Given the description of an element on the screen output the (x, y) to click on. 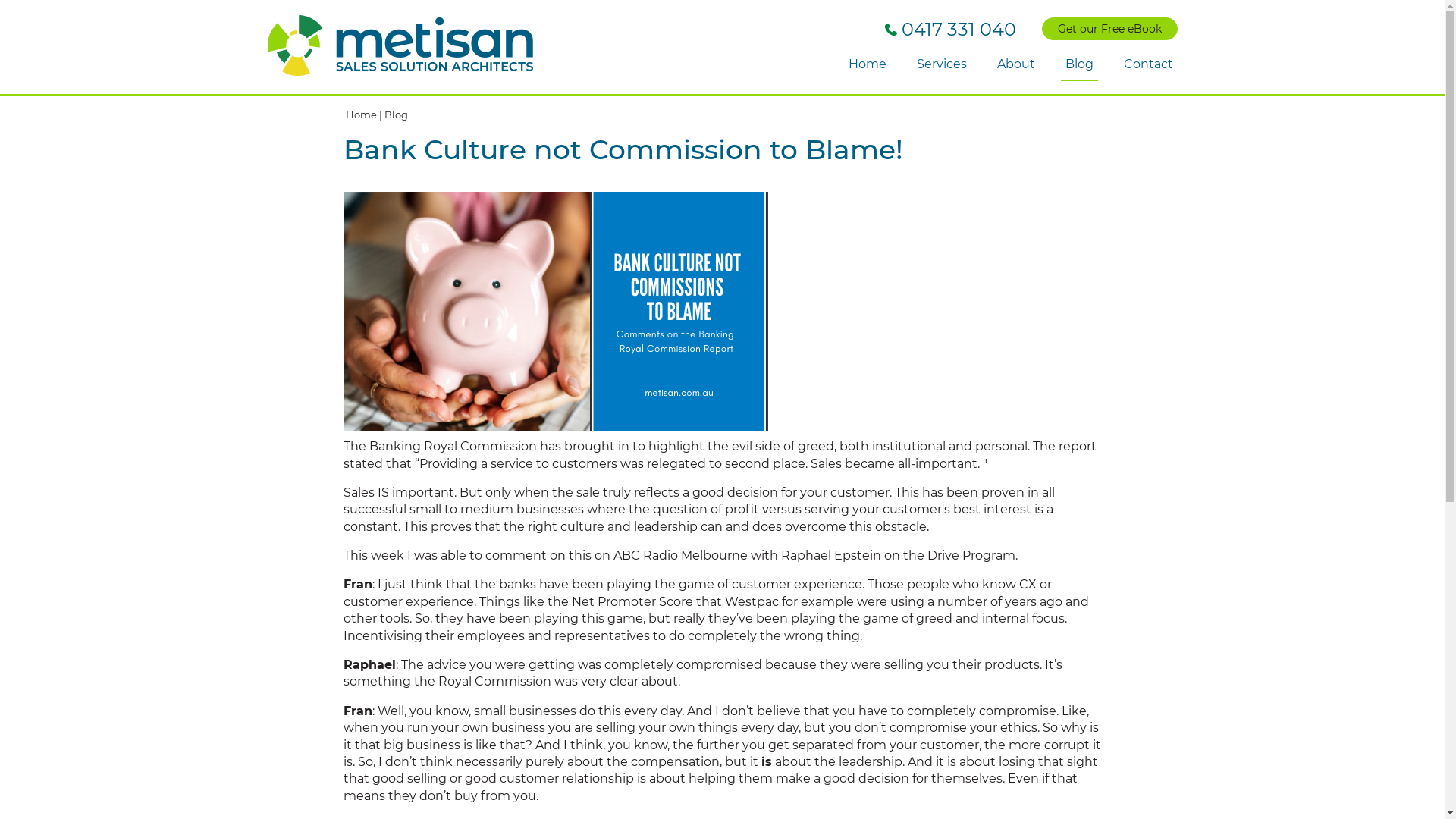
Services Element type: text (940, 65)
Home Element type: text (360, 114)
Get our Free eBook Element type: text (1109, 28)
Blog Element type: text (395, 114)
About Element type: text (1014, 65)
Blog Element type: text (1078, 65)
0417 331 040 Element type: text (949, 29)
Contact Element type: text (1148, 65)
Home Element type: text (866, 65)
